Given the description of an element on the screen output the (x, y) to click on. 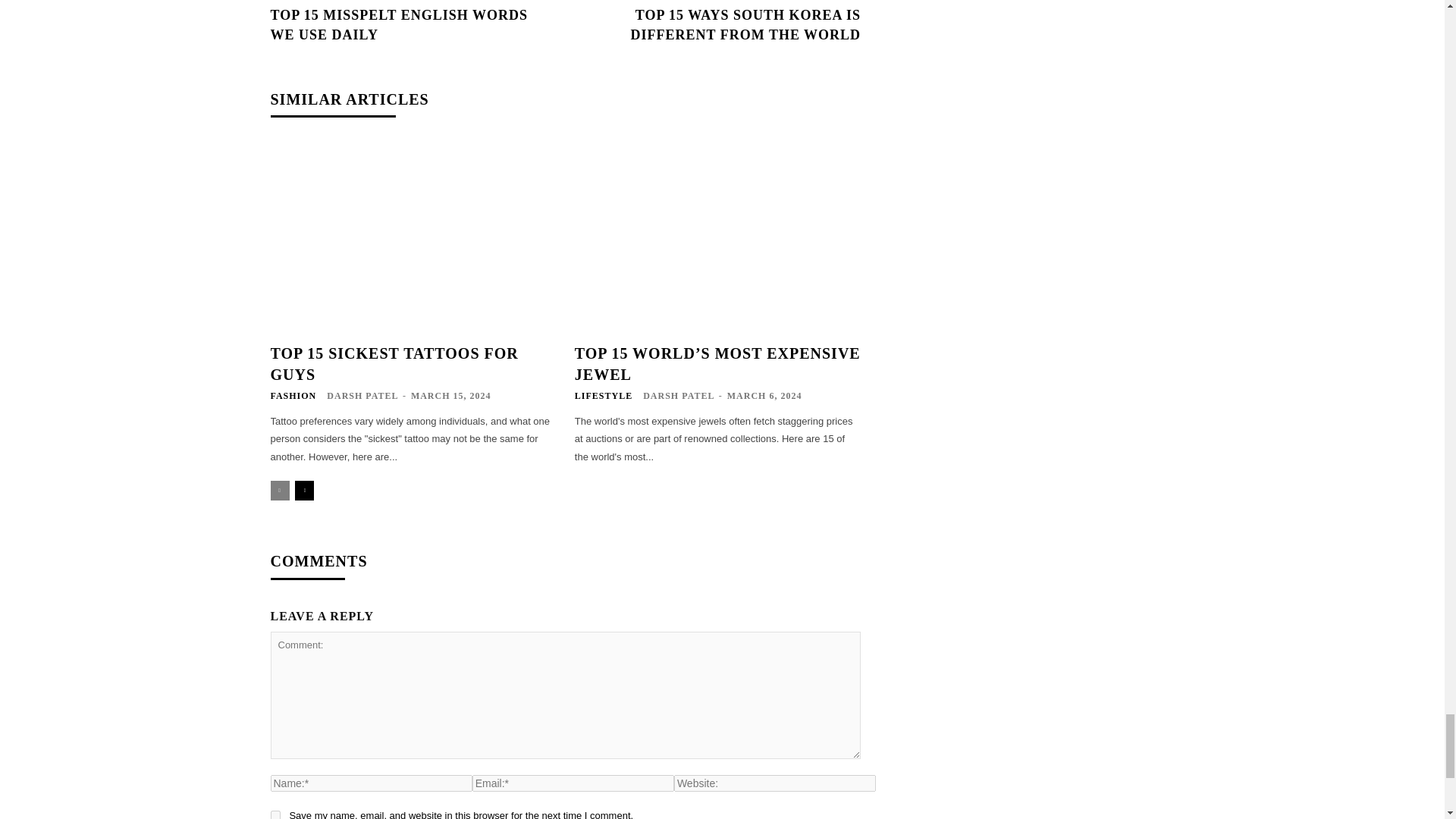
Top 15 Sickest Tattoos for Guys (393, 363)
yes (274, 814)
Top 15 Sickest Tattoos for Guys (412, 237)
